Given the description of an element on the screen output the (x, y) to click on. 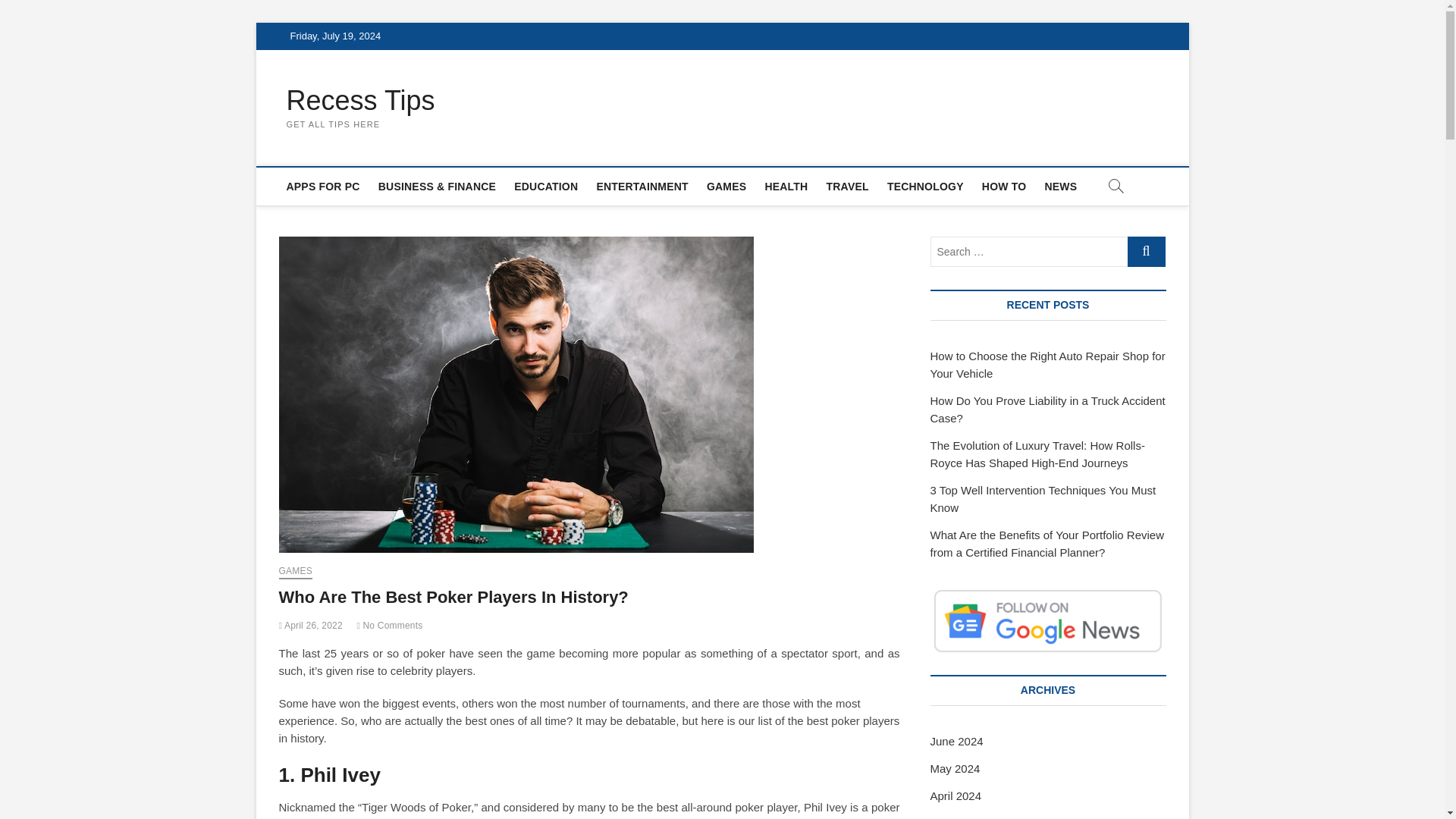
ENTERTAINMENT (641, 186)
NEWS (1060, 186)
GAMES (726, 186)
May 2024 (954, 768)
HEALTH (786, 186)
TRAVEL (847, 186)
Recess Tips (360, 100)
EDUCATION (545, 186)
HOW TO (1003, 186)
TECHNOLOGY (925, 186)
How Do You Prove Liability in a Truck Accident Case?  (1047, 409)
APPS FOR PC (323, 186)
April 26, 2022 (310, 624)
April 26, 2022 (310, 624)
Recess Tips (360, 100)
